Given the description of an element on the screen output the (x, y) to click on. 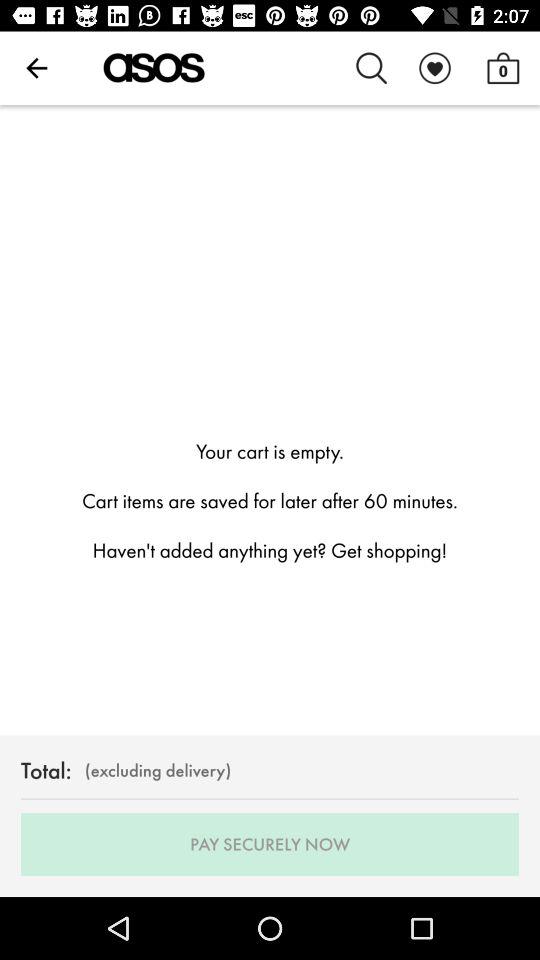
jump until the 0 item (503, 68)
